Given the description of an element on the screen output the (x, y) to click on. 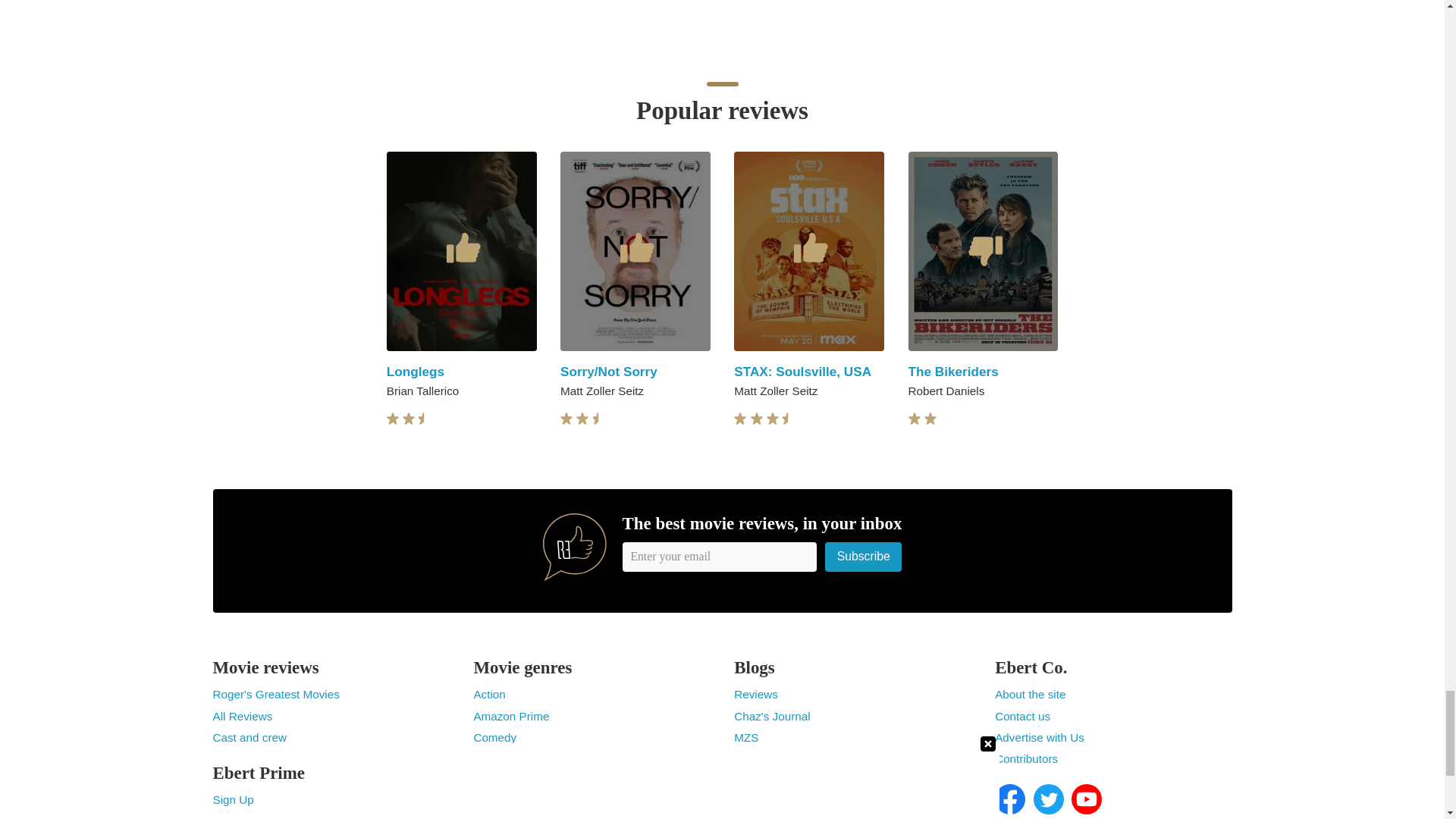
Subscribe (863, 556)
